Given the description of an element on the screen output the (x, y) to click on. 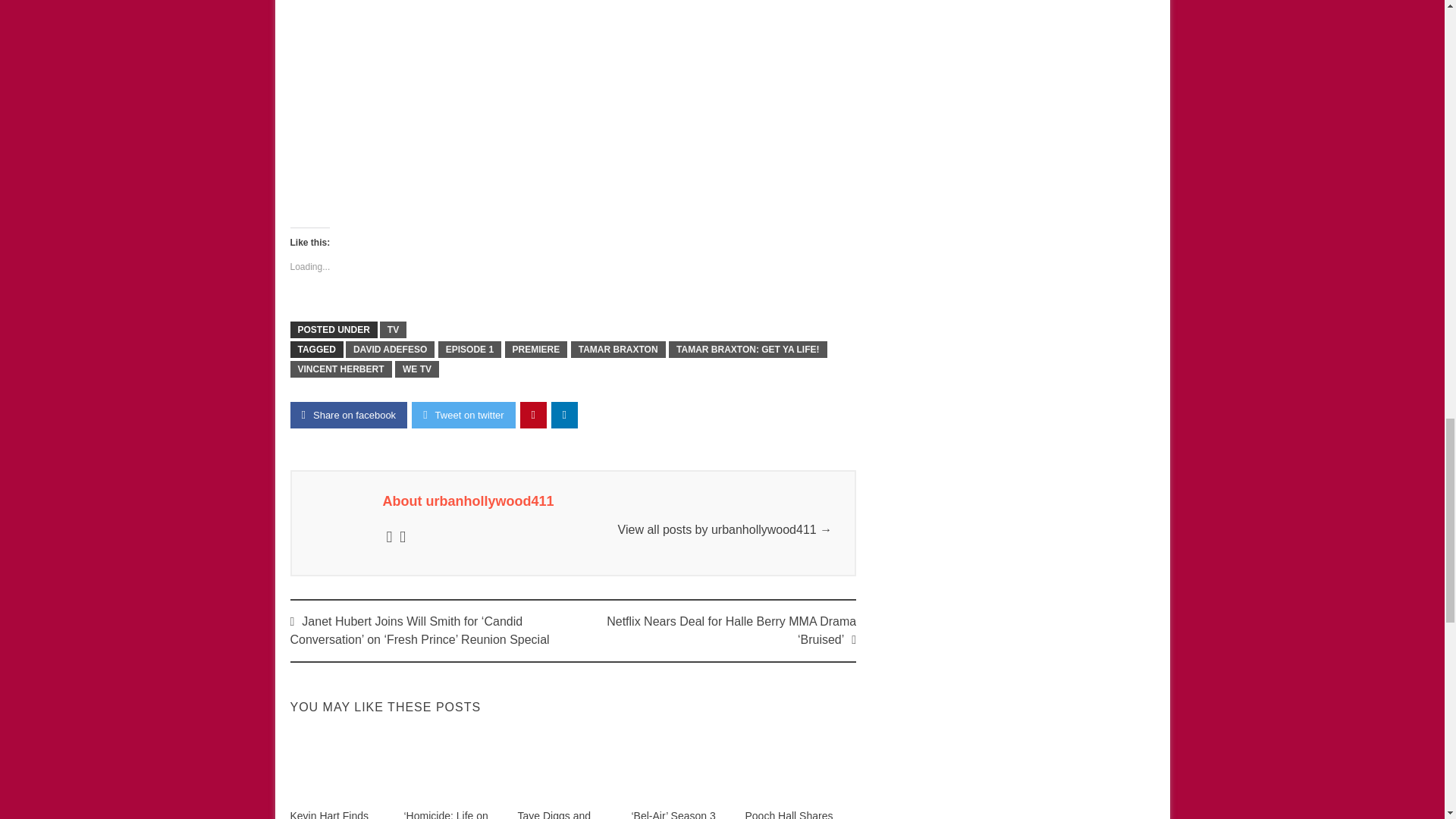
EPISODE 1 (469, 349)
TAMAR BRAXTON: GET YA LIFE! (747, 349)
WE TV (416, 369)
DAVID ADEFESO (389, 349)
TV (393, 329)
TAMAR BRAXTON (617, 349)
VINCENT HERBERT (340, 369)
Share on facebook (348, 415)
PREMIERE (536, 349)
Tweet on twitter (463, 415)
